Given the description of an element on the screen output the (x, y) to click on. 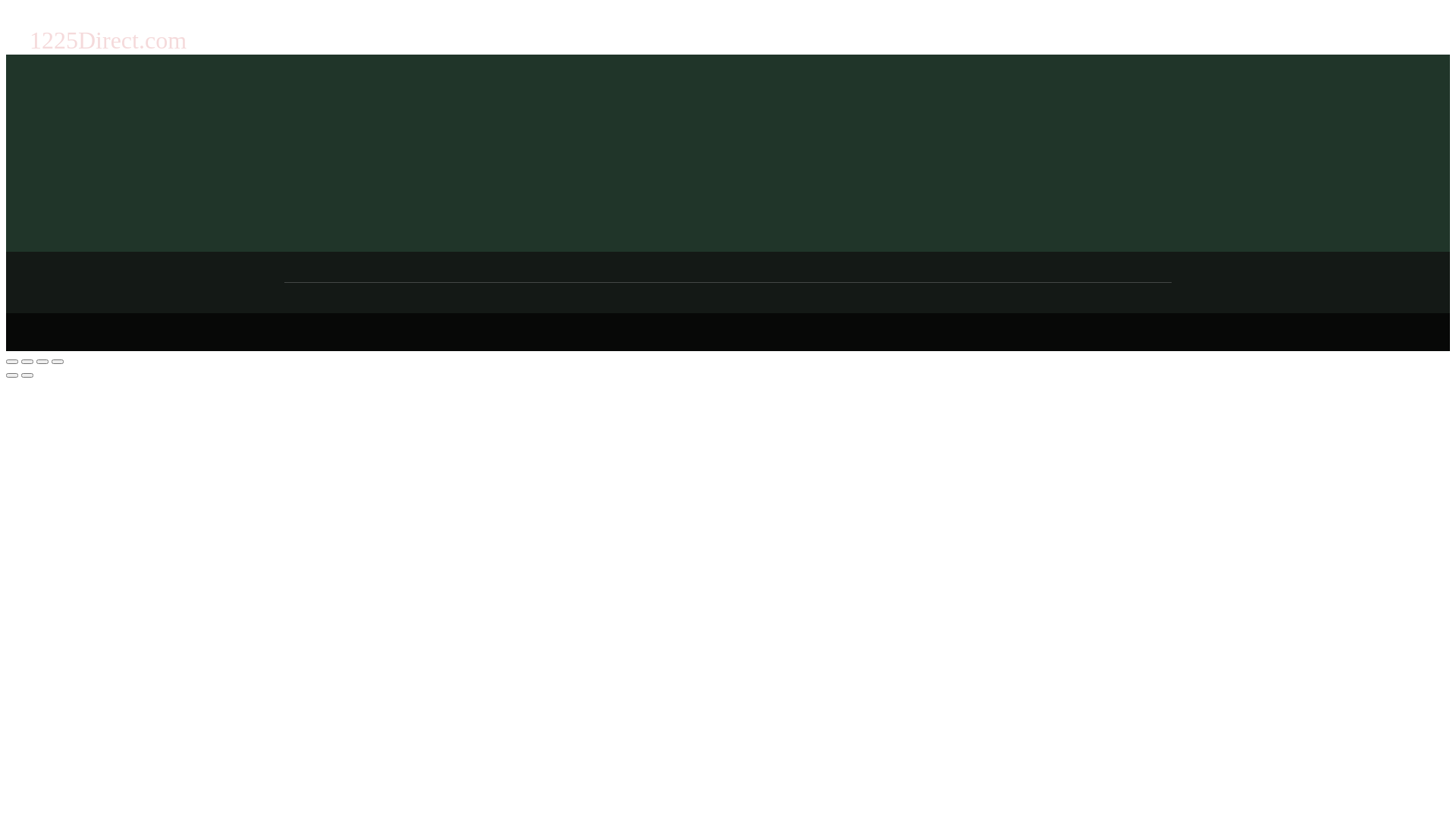
Close (Esc) Element type: hover (12, 361)
Previous (arrow left) Element type: hover (12, 375)
Next (arrow right) Element type: hover (27, 375)
Share Element type: hover (27, 361)
Toggle fullscreen Element type: hover (42, 361)
1225Direct.com Element type: text (113, 39)
Zoom in/out Element type: hover (57, 361)
